Given the description of an element on the screen output the (x, y) to click on. 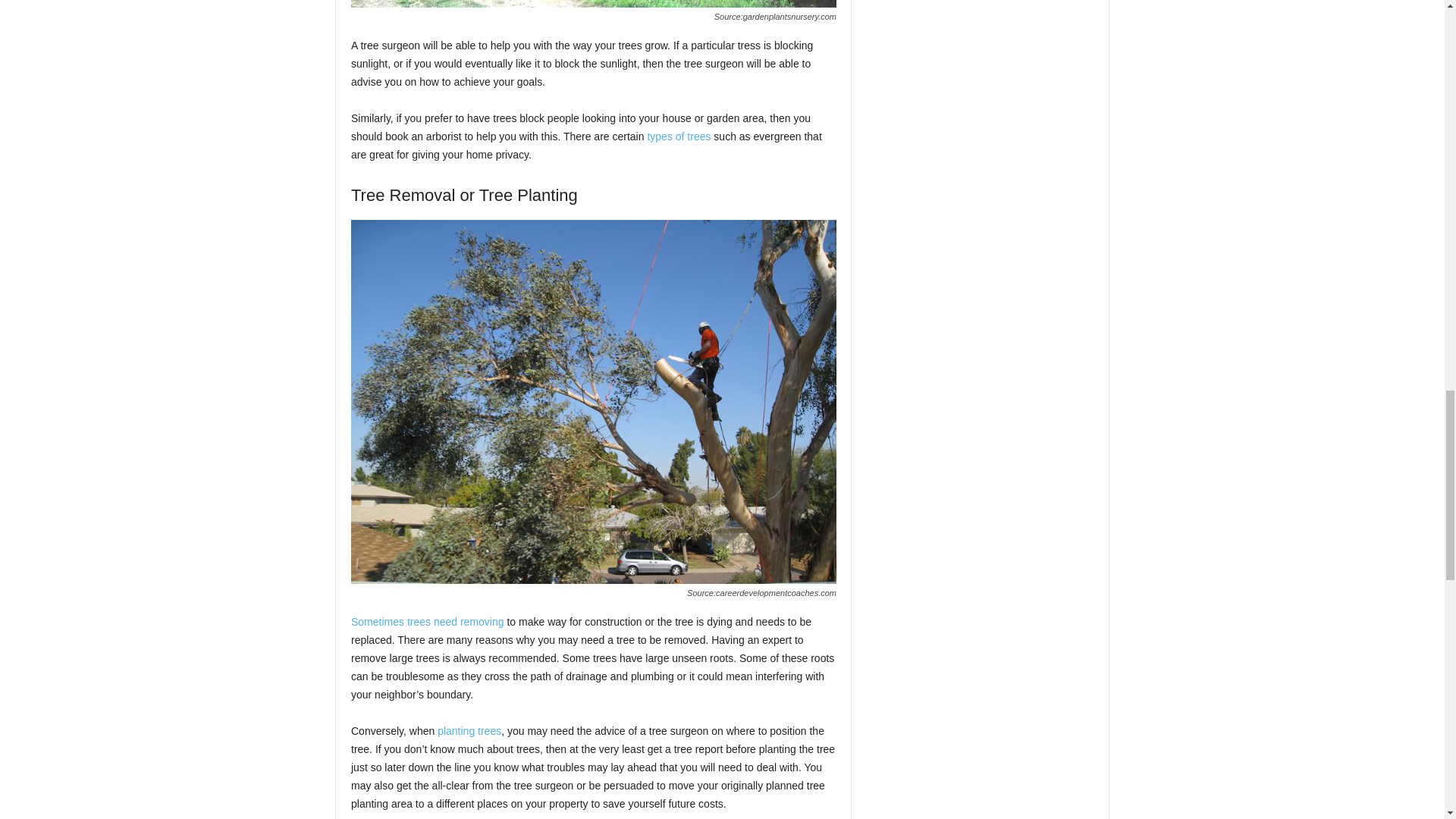
types of trees (678, 136)
planting trees (469, 730)
Sometimes trees need removing (426, 621)
